Given the description of an element on the screen output the (x, y) to click on. 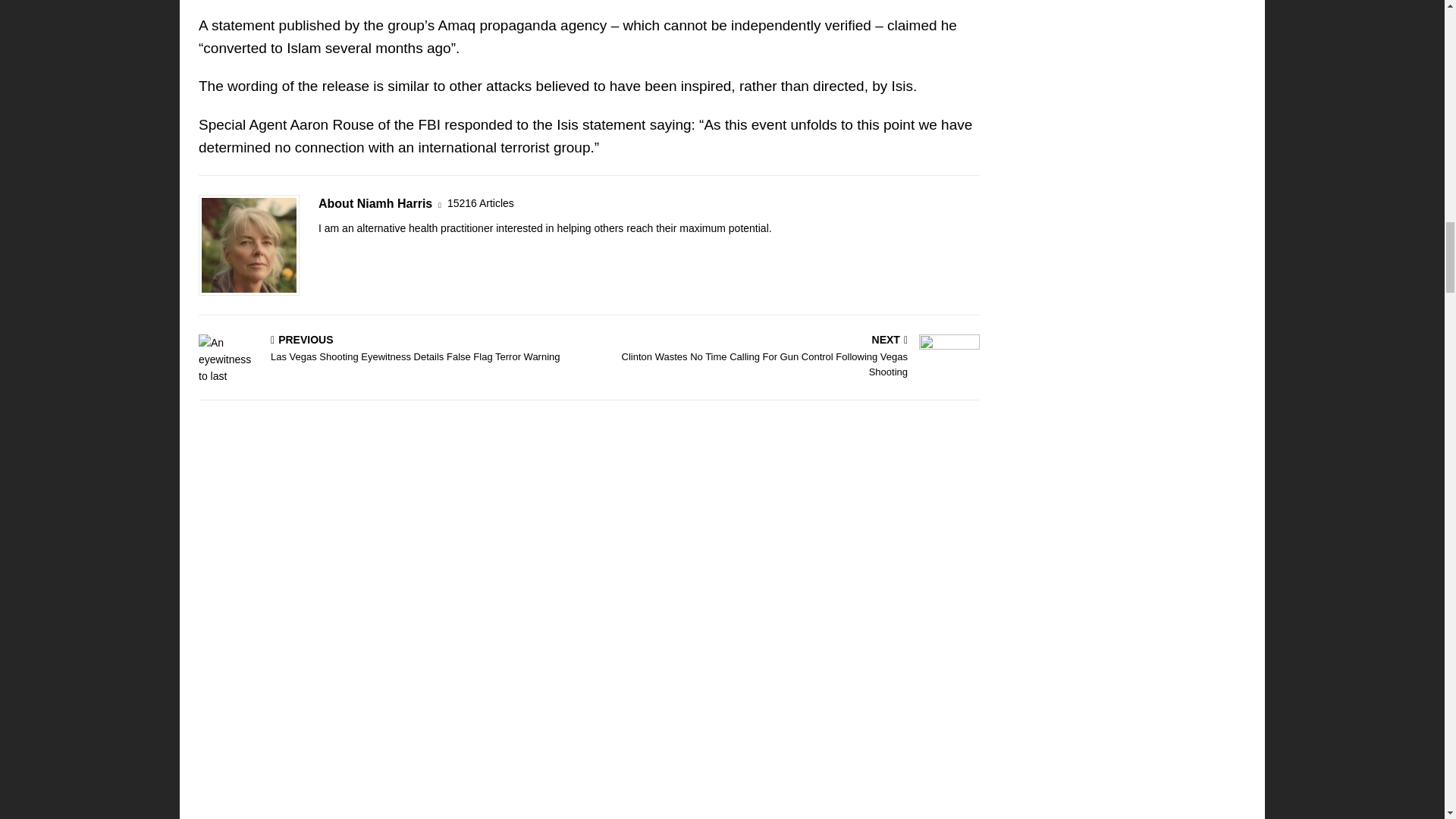
More articles written by Niamh Harris' (479, 203)
